Given the description of an element on the screen output the (x, y) to click on. 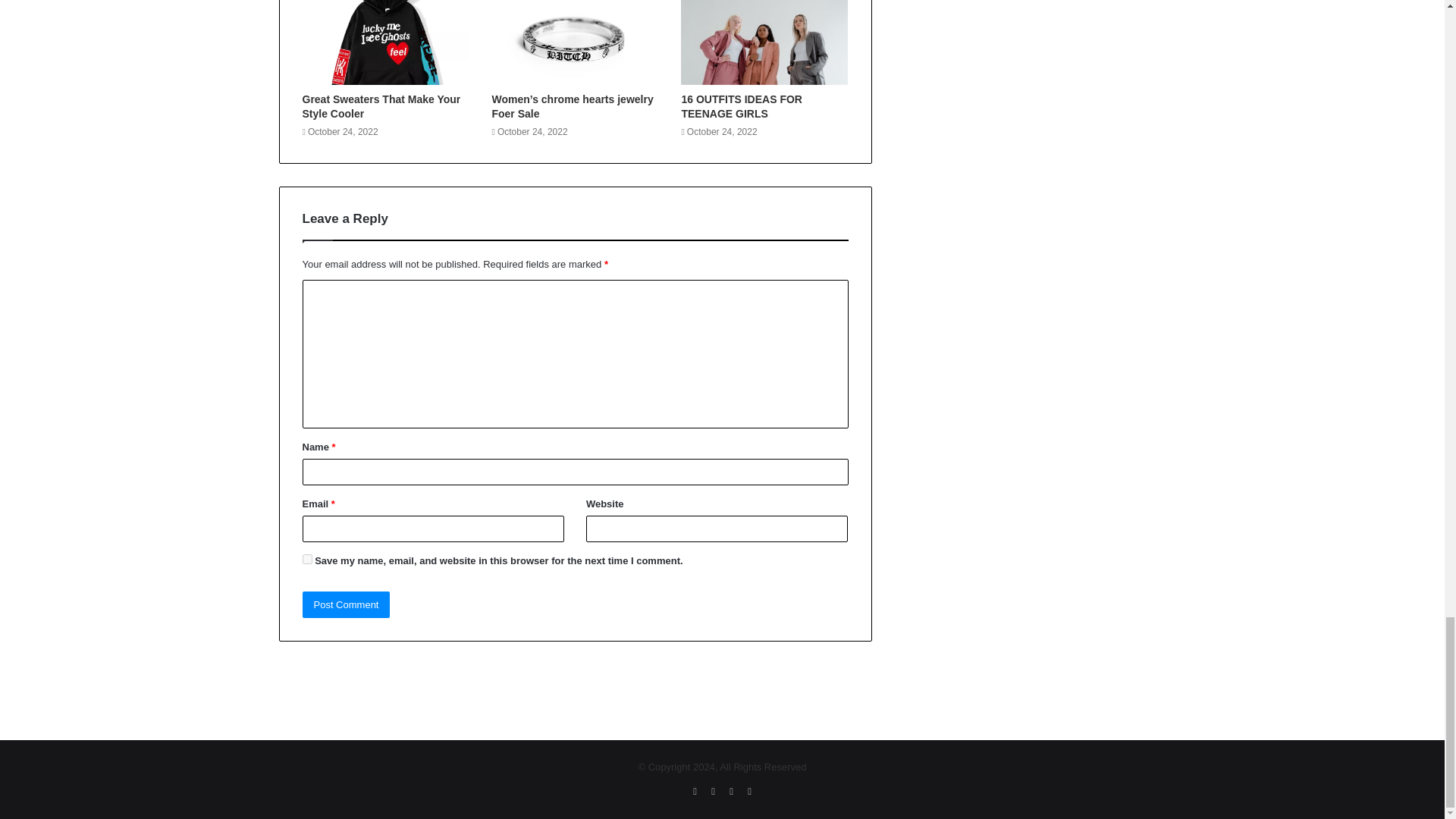
yes (306, 559)
Post Comment (345, 604)
Great Sweaters That Make Your Style Cooler (380, 106)
Post Comment (345, 604)
16 OUTFITS IDEAS FOR TEENAGE GIRLS (741, 106)
